Given the description of an element on the screen output the (x, y) to click on. 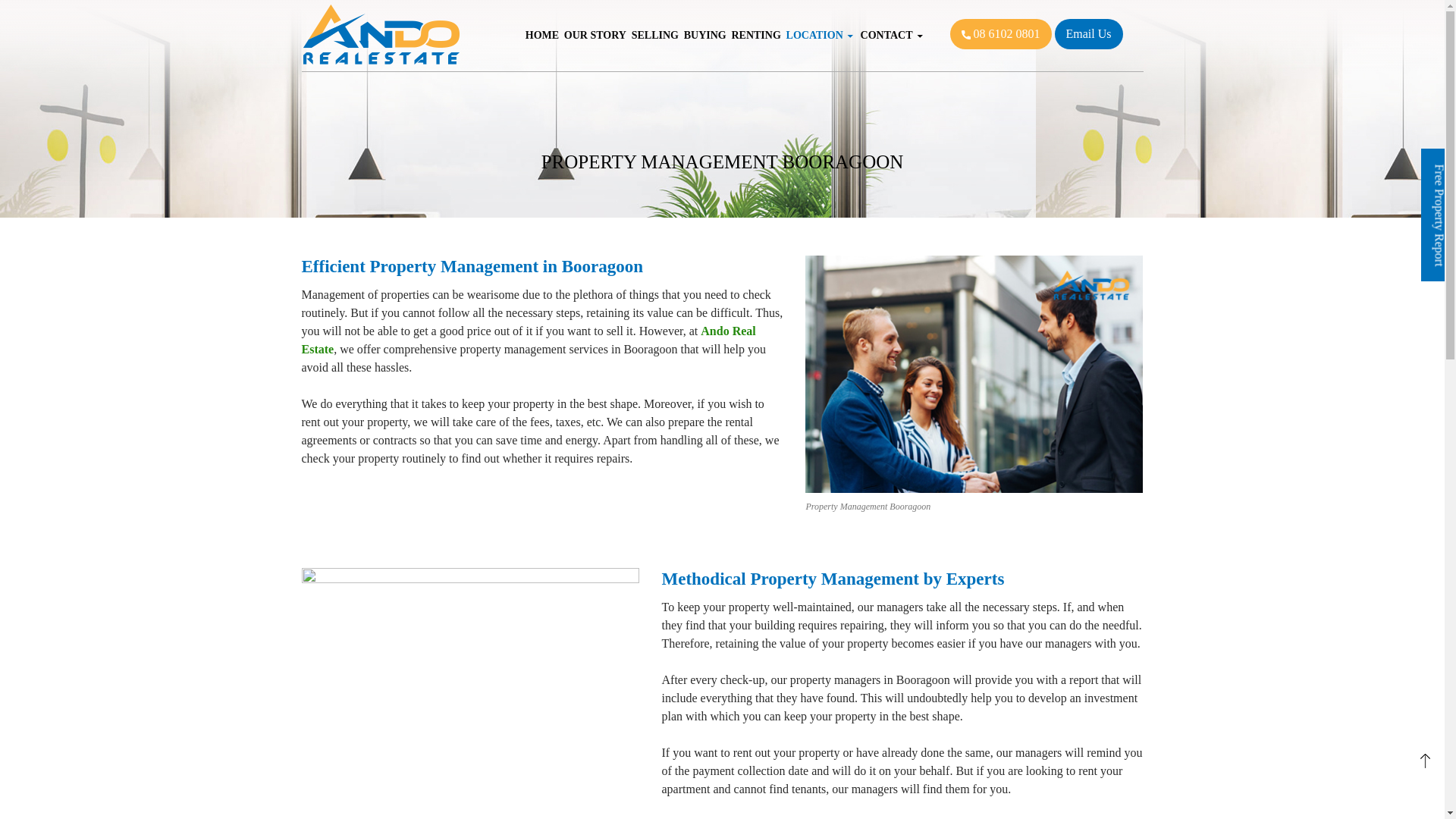
LOCATION (820, 35)
08 6102 0801 (1000, 33)
Email Us (1088, 33)
OUR STORY (594, 35)
